Given the description of an element on the screen output the (x, y) to click on. 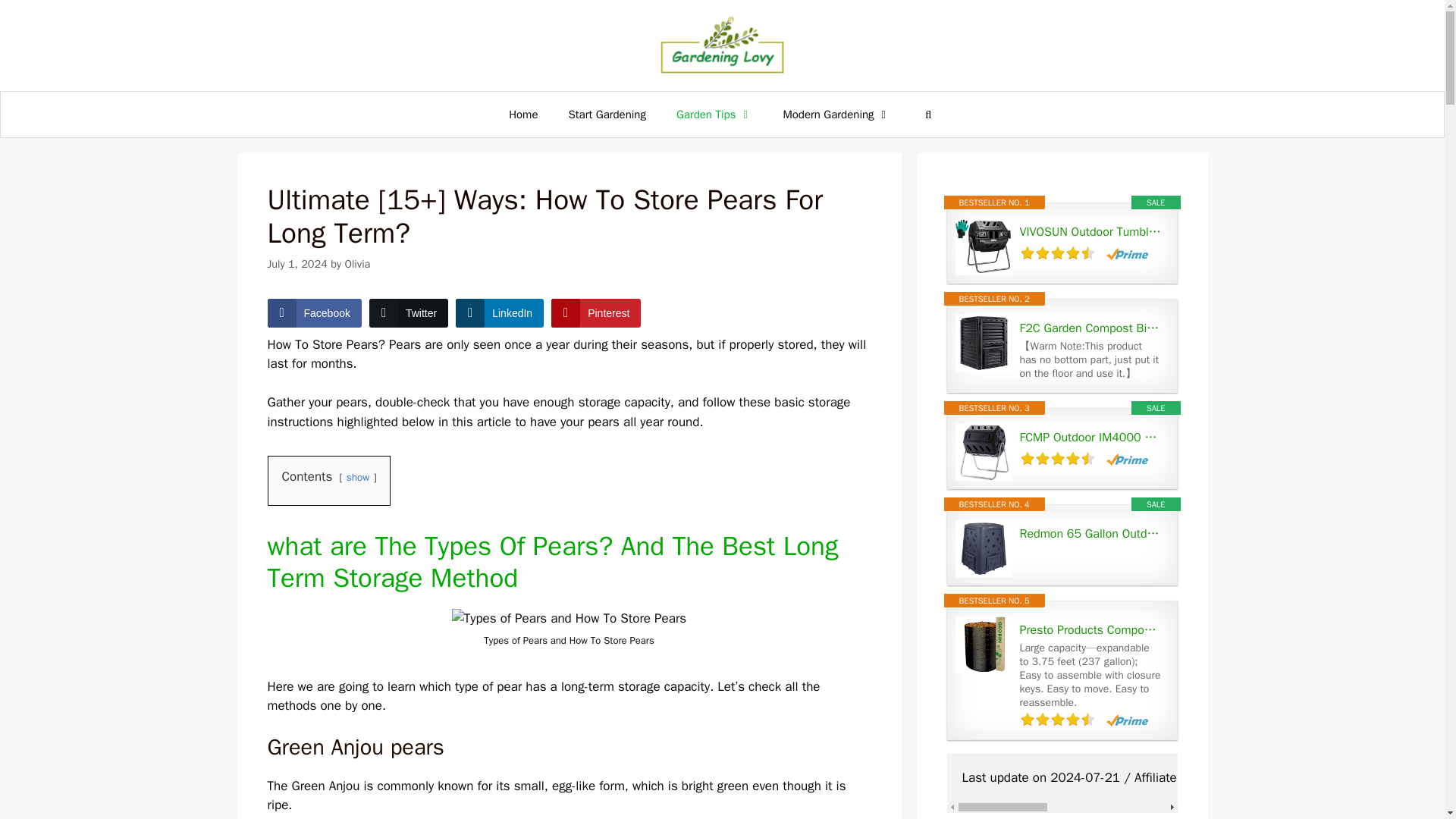
4 min 4 (568, 618)
Olivia (356, 264)
Facebook (313, 312)
View all posts by Olivia (356, 264)
Home (523, 114)
LinkedIn (499, 312)
Modern Gardening (836, 114)
Twitter (408, 312)
Start Gardening (607, 114)
Reviews on Amazon (1056, 253)
Pinterest (595, 312)
show (357, 477)
Garden Tips (714, 114)
